Given the description of an element on the screen output the (x, y) to click on. 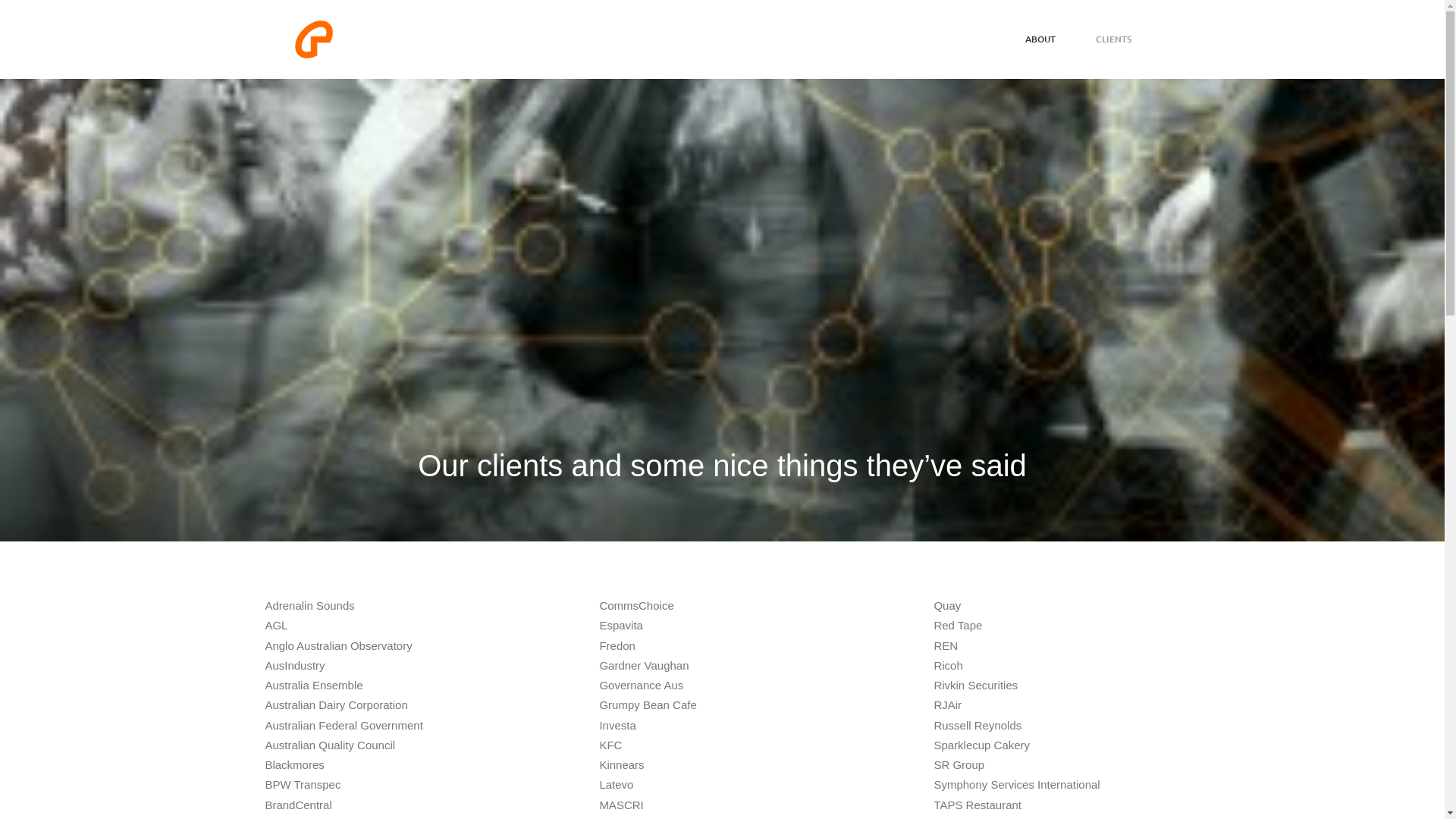
ABOUT Element type: text (1039, 39)
CLIENTS Element type: text (1113, 39)
